Given the description of an element on the screen output the (x, y) to click on. 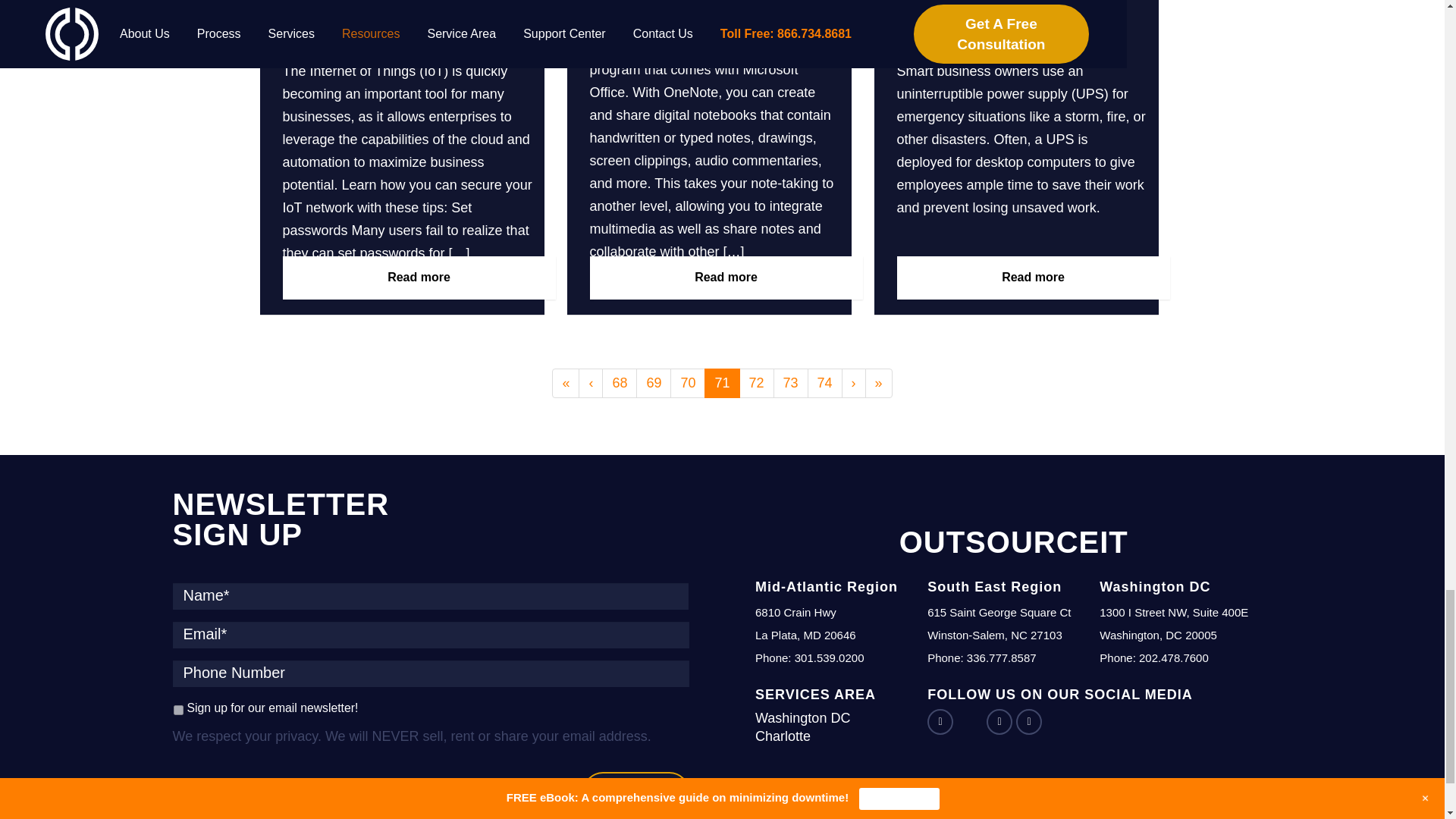
Sign up for our email newsletter! (178, 709)
Sign Up (635, 792)
